Given the description of an element on the screen output the (x, y) to click on. 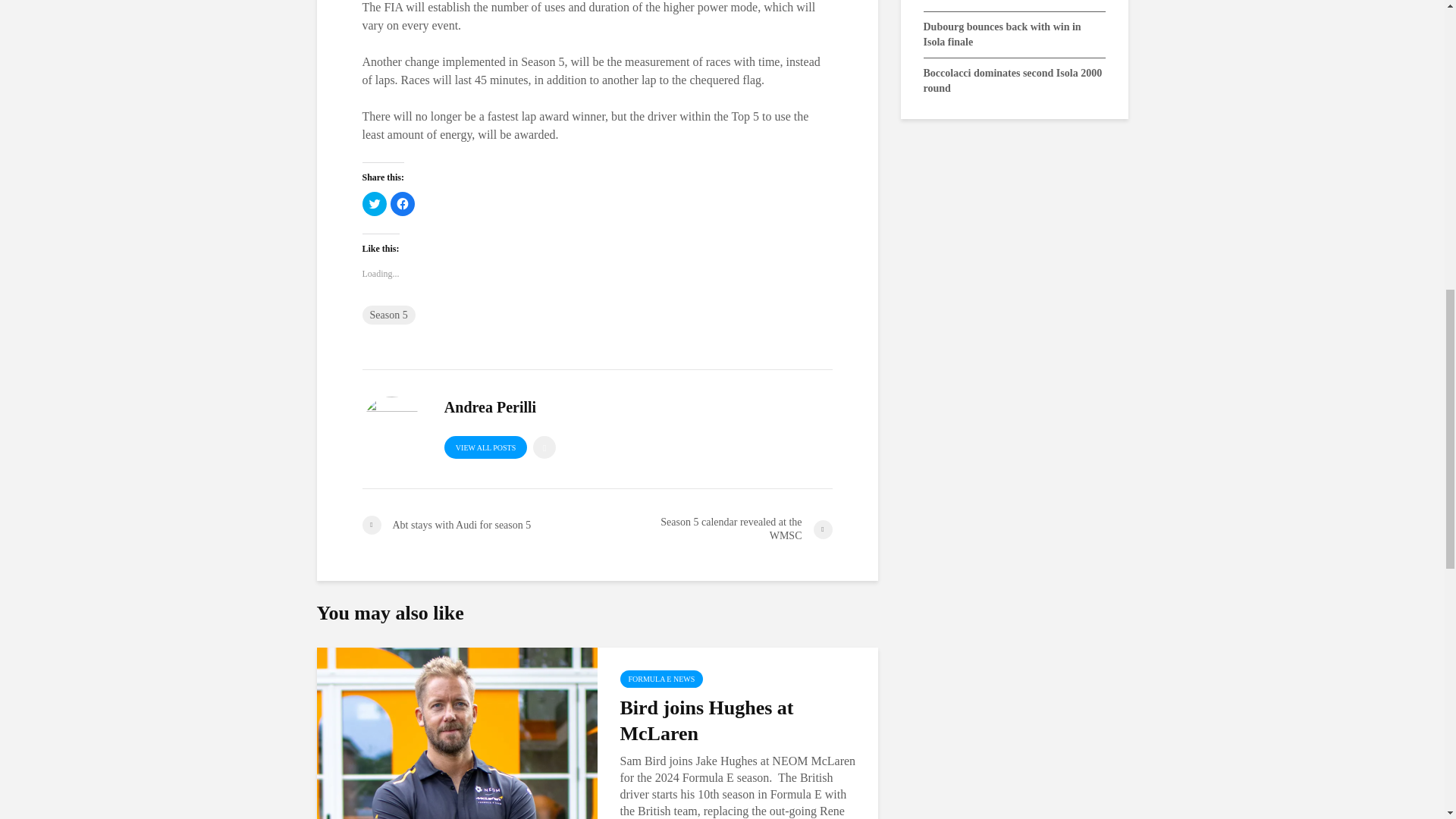
Season 5 (388, 314)
Season 5 calendar revealed at the WMSC (714, 528)
VIEW ALL POSTS (485, 446)
Abt stays with Audi for season 5 (479, 524)
Click to share on Twitter (374, 203)
Bird joins Hughes at McLaren (456, 759)
Click to share on Facebook (401, 203)
